Given the description of an element on the screen output the (x, y) to click on. 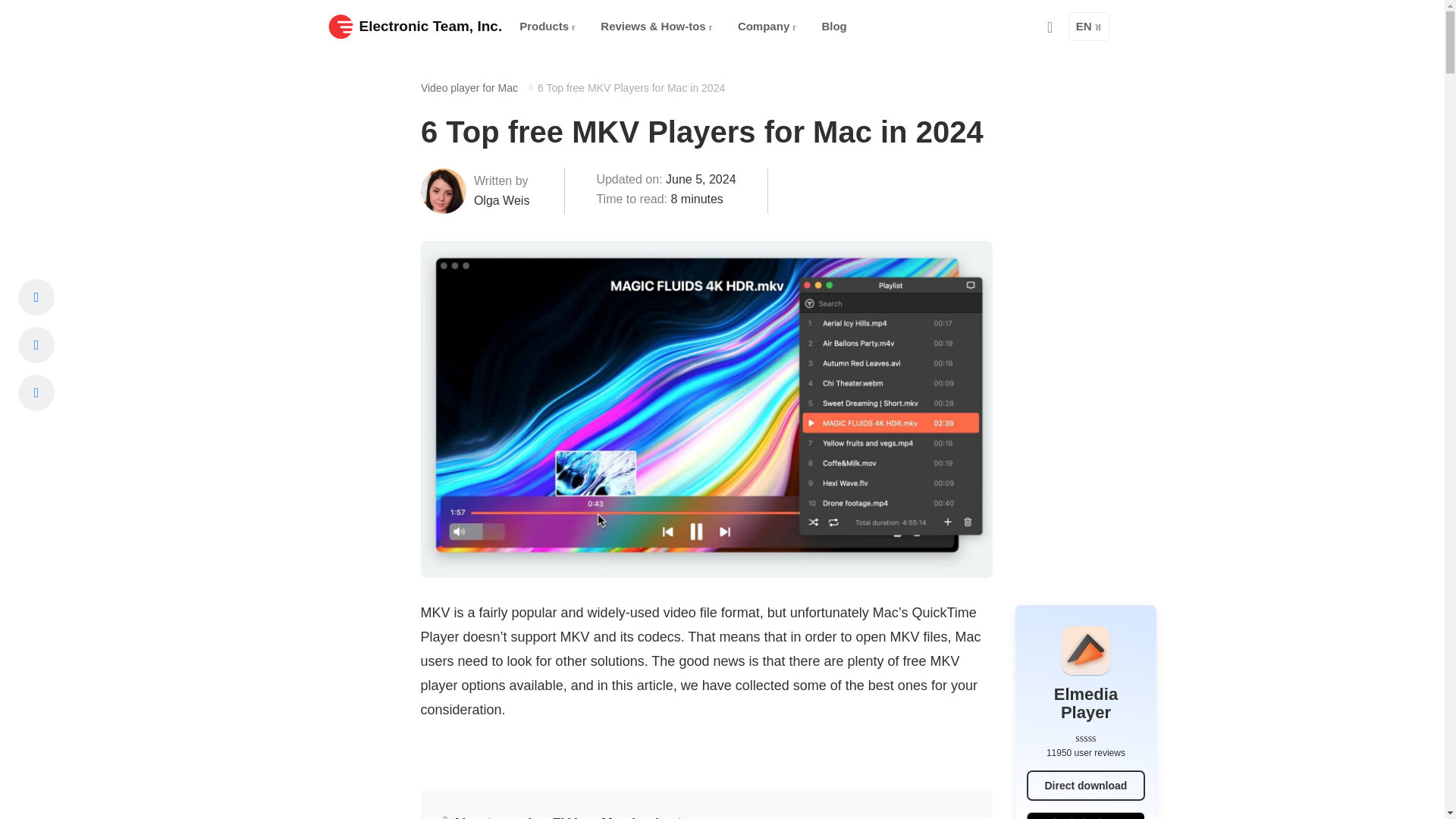
Blog (834, 26)
Company (767, 26)
Blog (834, 26)
Electronic Team, Inc. (414, 25)
Products (547, 26)
EN (1088, 26)
